Given the description of an element on the screen output the (x, y) to click on. 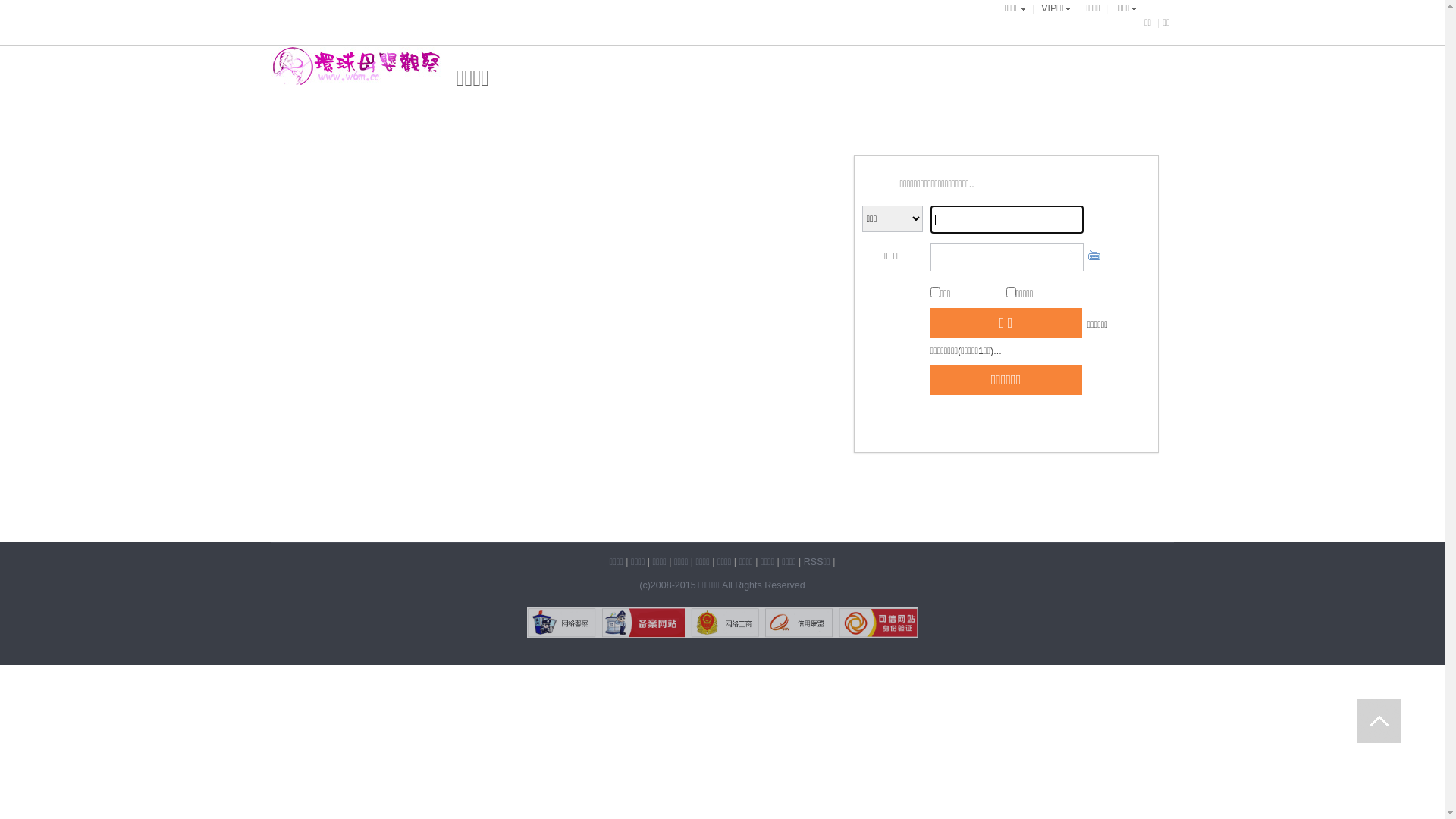
  Element type: text (1379, 721)
